Given the description of an element on the screen output the (x, y) to click on. 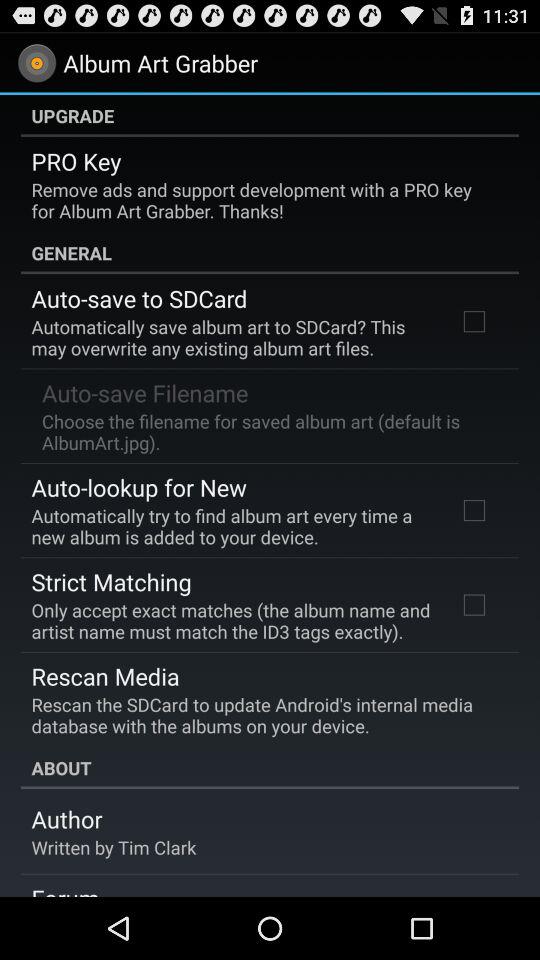
launch the app below the remove ads and app (270, 252)
